Given the description of an element on the screen output the (x, y) to click on. 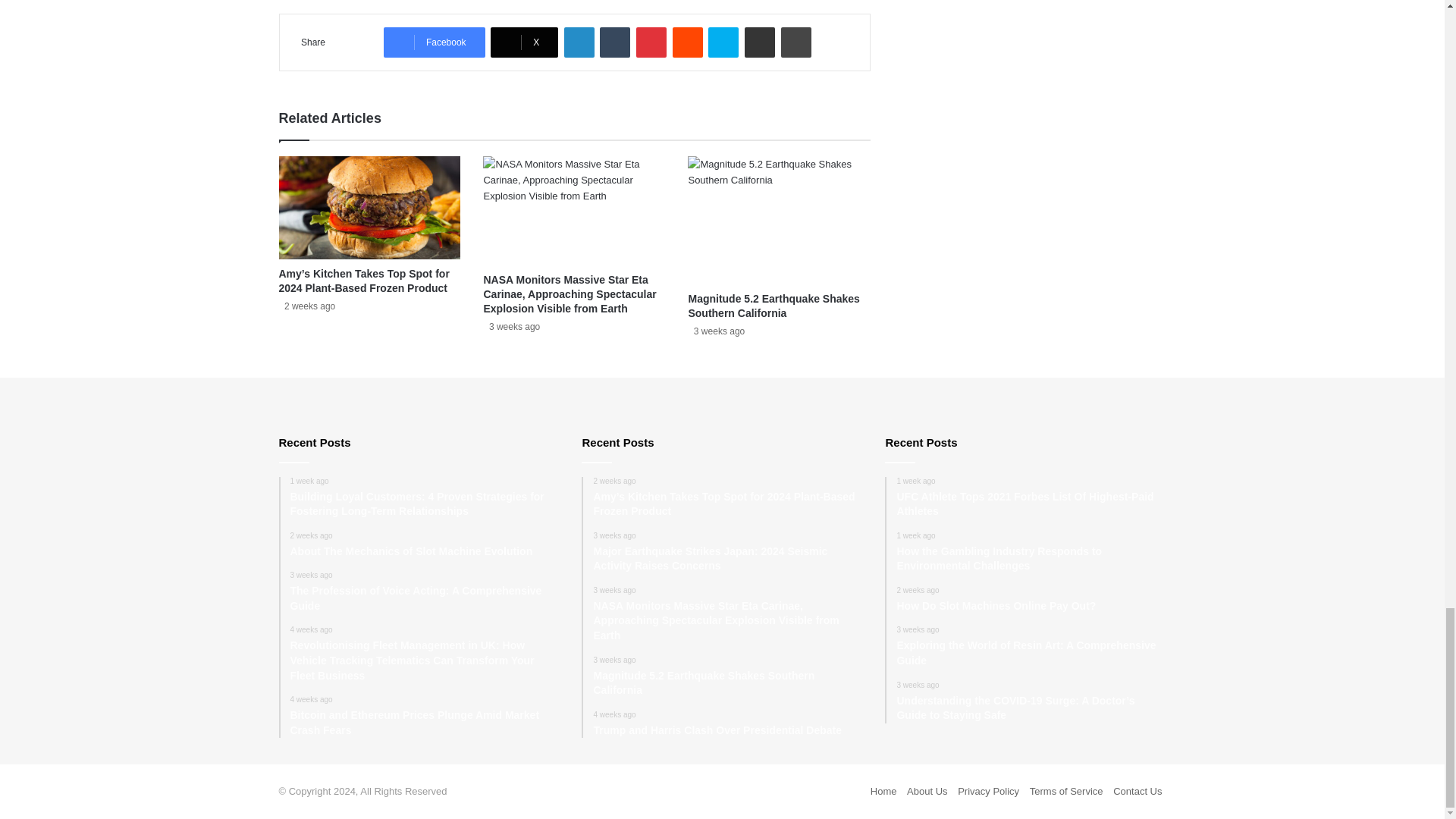
Pinterest (651, 42)
Tumblr (614, 42)
LinkedIn (579, 42)
X (523, 42)
X (523, 42)
Reddit (687, 42)
Facebook (434, 42)
Facebook (434, 42)
Skype (722, 42)
